Given the description of an element on the screen output the (x, y) to click on. 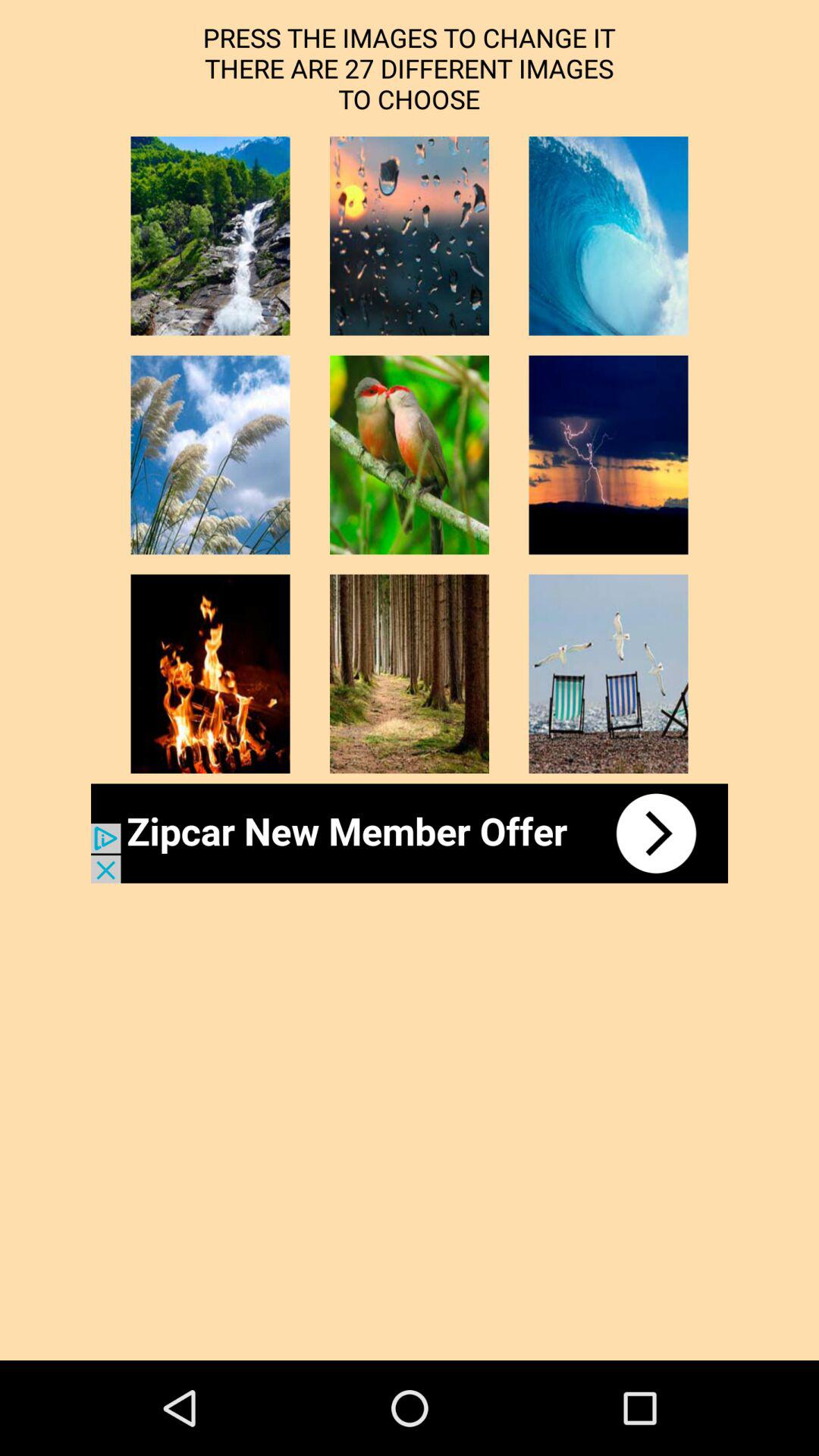
click to change image (409, 673)
